Given the description of an element on the screen output the (x, y) to click on. 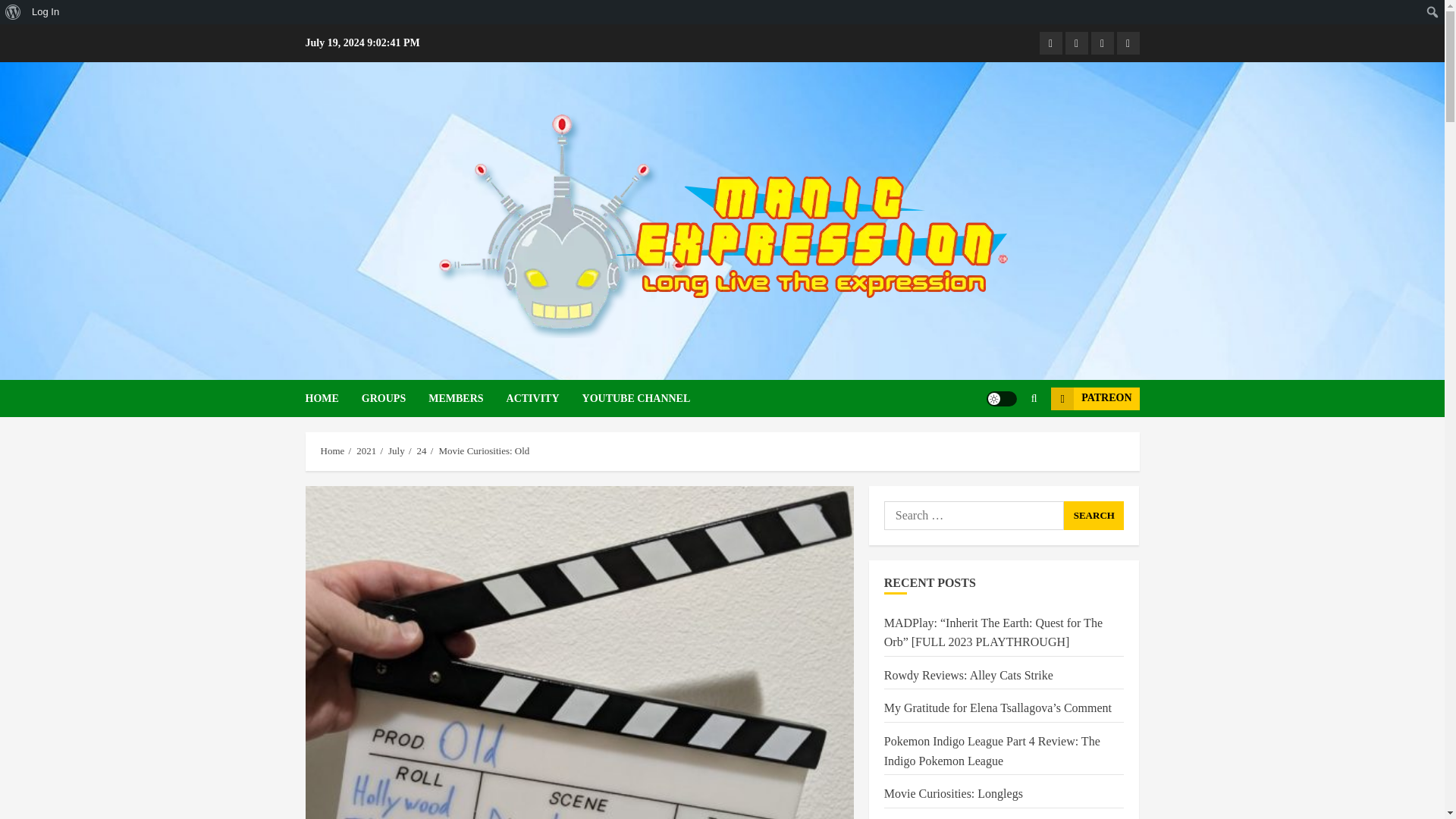
Home (331, 451)
Manic Expression Youtube channel (1075, 42)
ACTIVITY (544, 398)
GROUPS (394, 398)
2021 (365, 451)
PATREON (1094, 397)
HOME (332, 398)
July (396, 451)
Tiktok Manic Expression page (1101, 42)
Twitter (1127, 42)
Search (1094, 515)
Search (1004, 443)
YOUTUBE CHANNEL (636, 398)
Search (1094, 515)
